Given the description of an element on the screen output the (x, y) to click on. 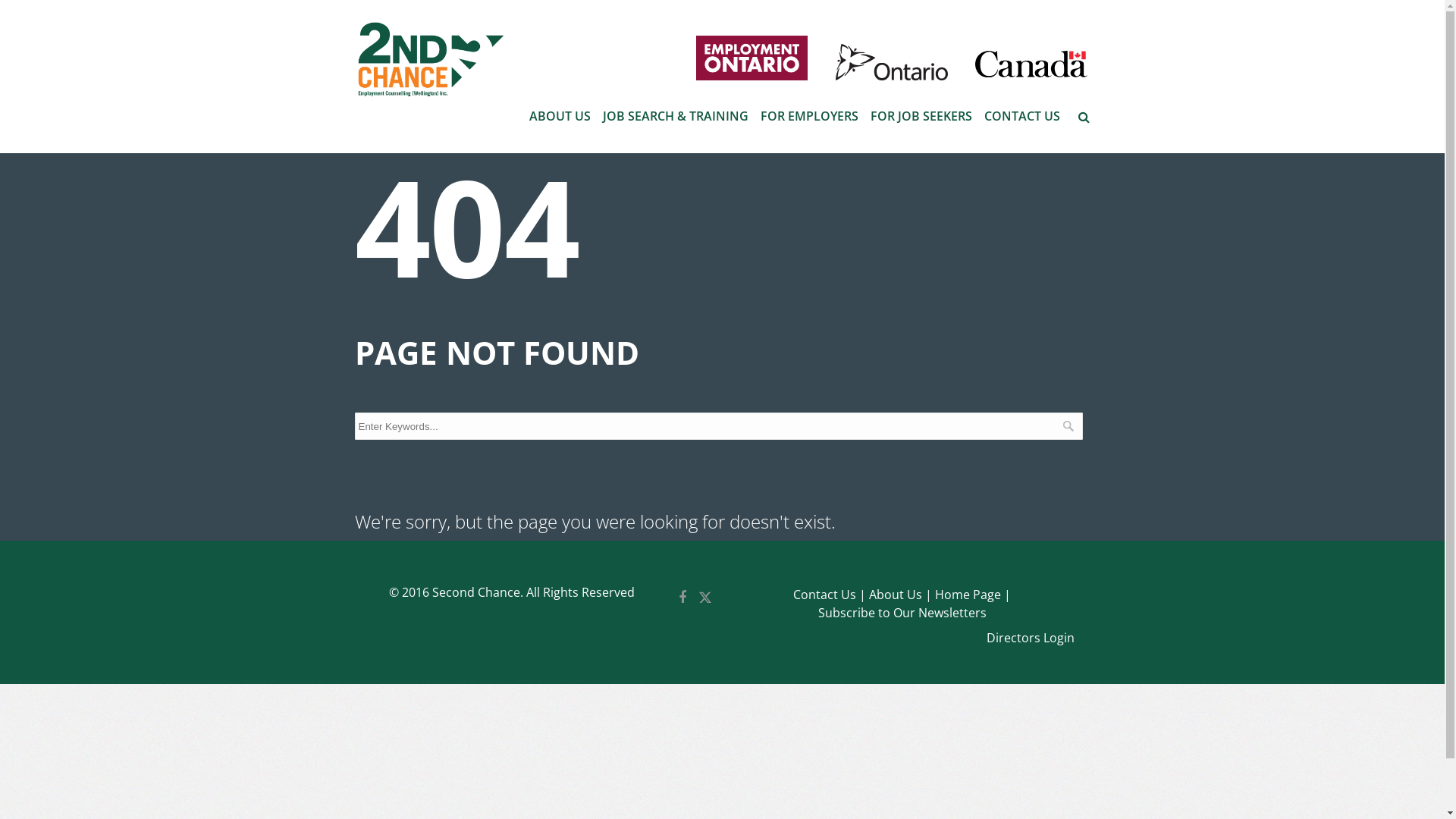
Directors Login Element type: text (1030, 637)
Home Page Element type: text (972, 594)
2nd Chance twitter Element type: text (705, 598)
Subscribe to Our Newsletters Element type: text (902, 612)
SEARCH FORM TOGGLE Element type: text (1084, 114)
CONTACT US Element type: text (1022, 115)
About Us Element type: text (900, 594)
Contact Us Element type: text (829, 594)
JOB SEARCH & TRAINING Element type: text (674, 115)
FOR EMPLOYERS Element type: text (808, 115)
ABOUT US Element type: text (559, 115)
2nd Chance facebook Element type: text (682, 598)
FOR JOB SEEKERS Element type: text (921, 115)
